Given the description of an element on the screen output the (x, y) to click on. 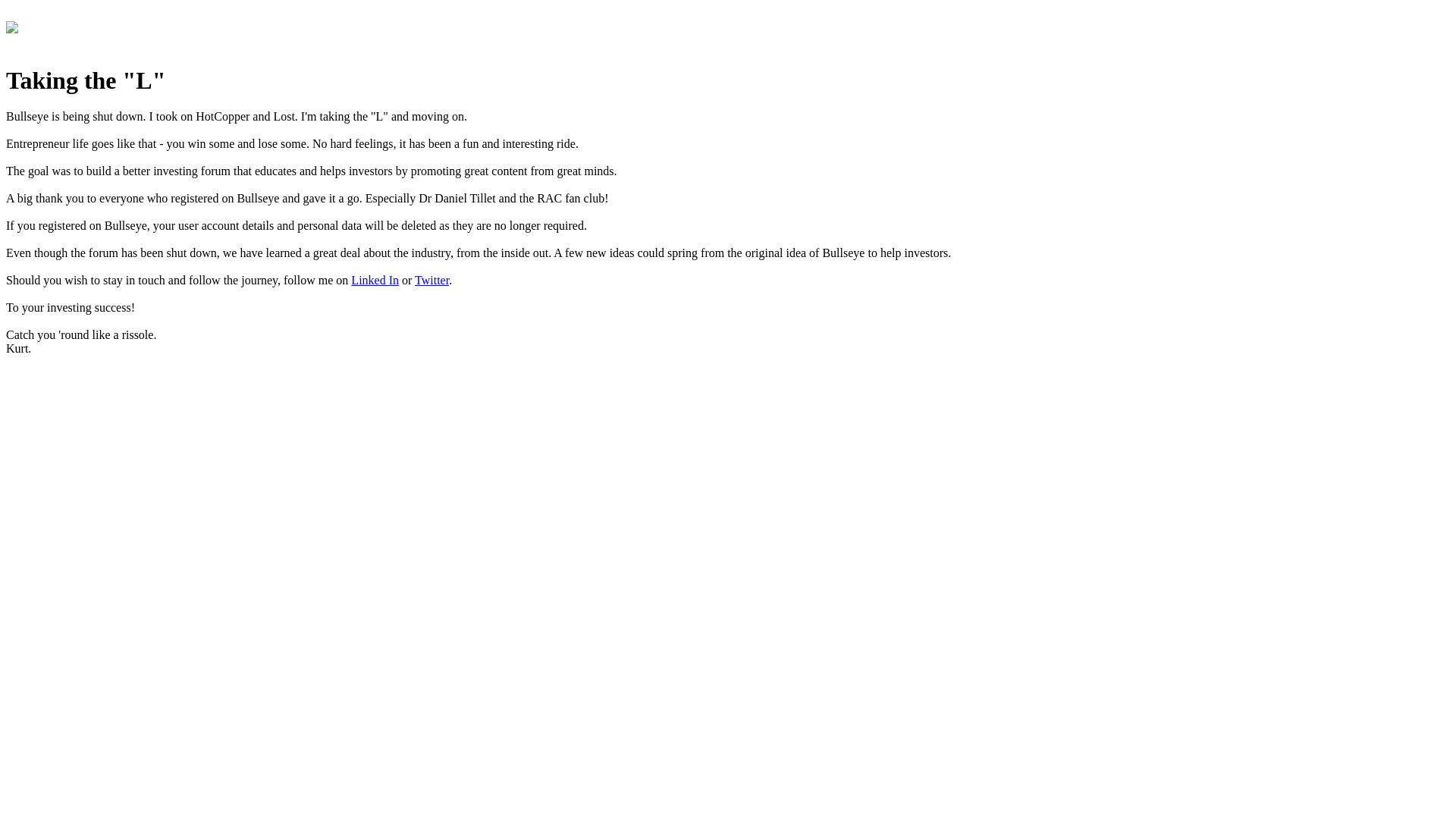
Twitter Element type: text (431, 279)
Linked In Element type: text (374, 279)
